Given the description of an element on the screen output the (x, y) to click on. 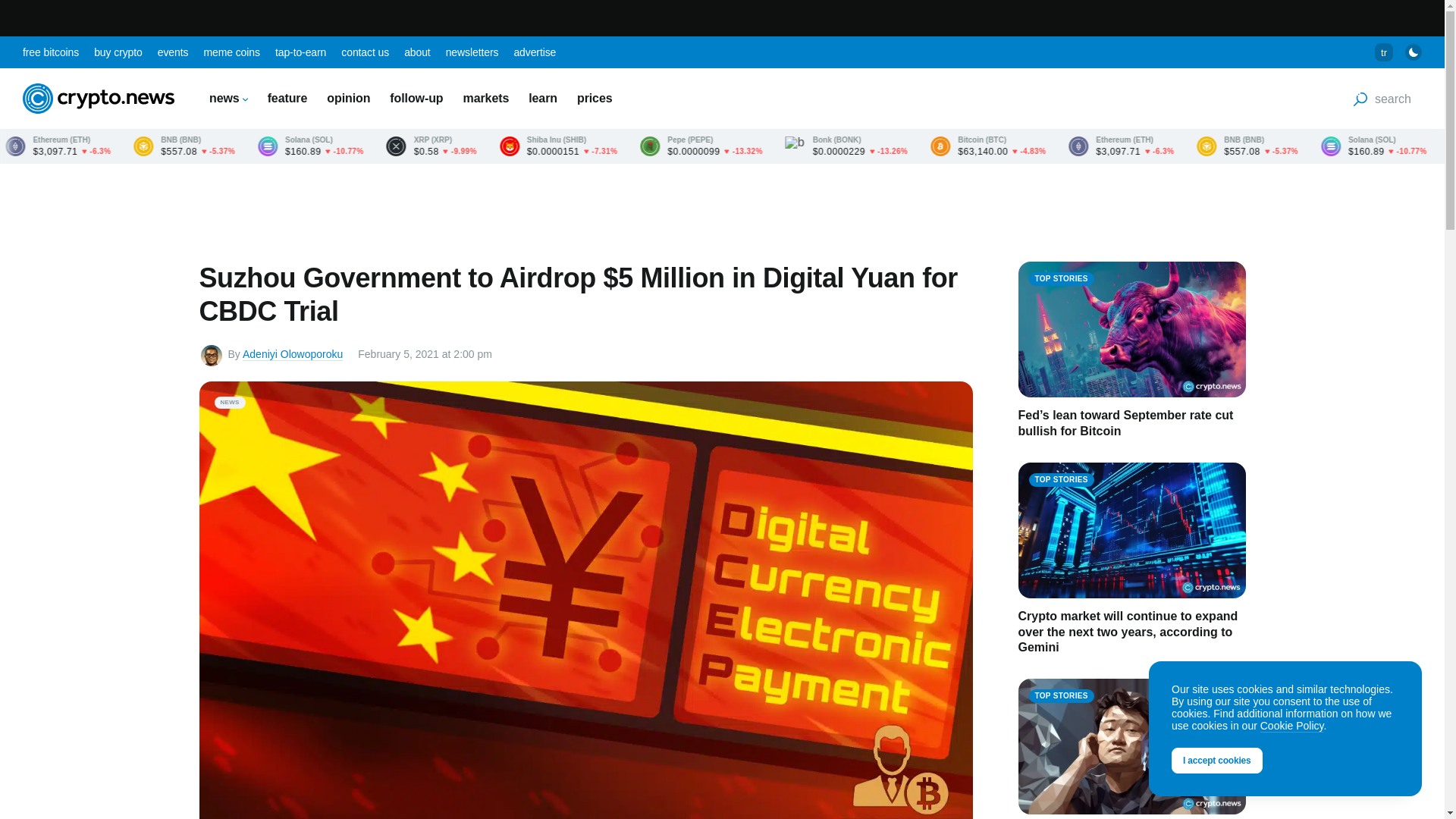
search (1382, 98)
about (417, 51)
news (228, 97)
learn (542, 97)
tr (1383, 52)
Ethereum price (173, 145)
advertise (534, 51)
follow-up (416, 97)
crypto.news (98, 98)
crypto.news (98, 98)
Solana price (424, 145)
contact us (364, 51)
meme coins (231, 51)
BNB price (299, 145)
markets (486, 97)
